Given the description of an element on the screen output the (x, y) to click on. 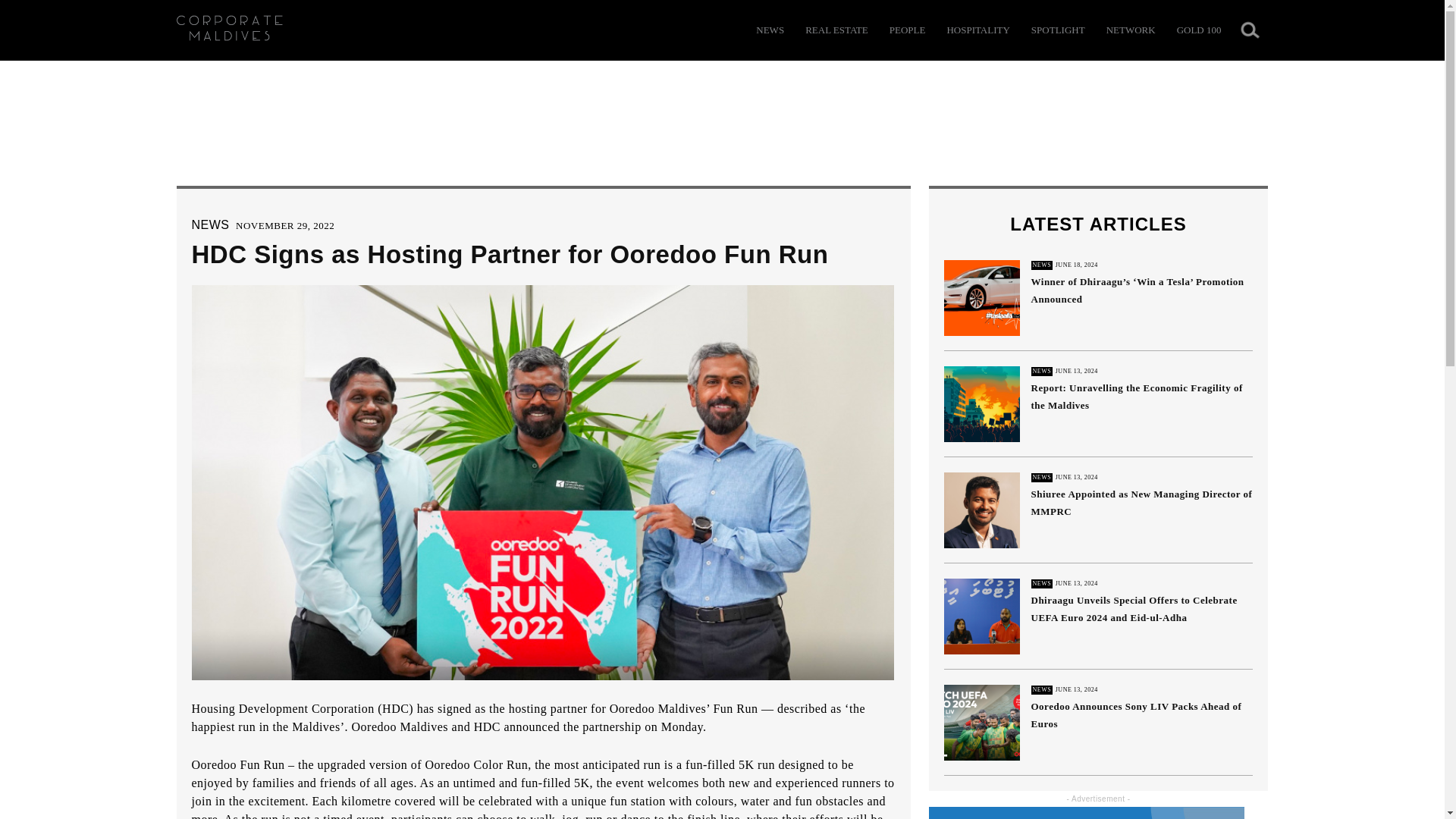
GOLD 100 (1198, 30)
REAL ESTATE (836, 30)
NEWS (769, 30)
HOSPITALITY (977, 30)
NETWORK (1131, 30)
SPOTLIGHT (1057, 30)
PEOPLE (907, 30)
NEWS (209, 224)
